Given the description of an element on the screen output the (x, y) to click on. 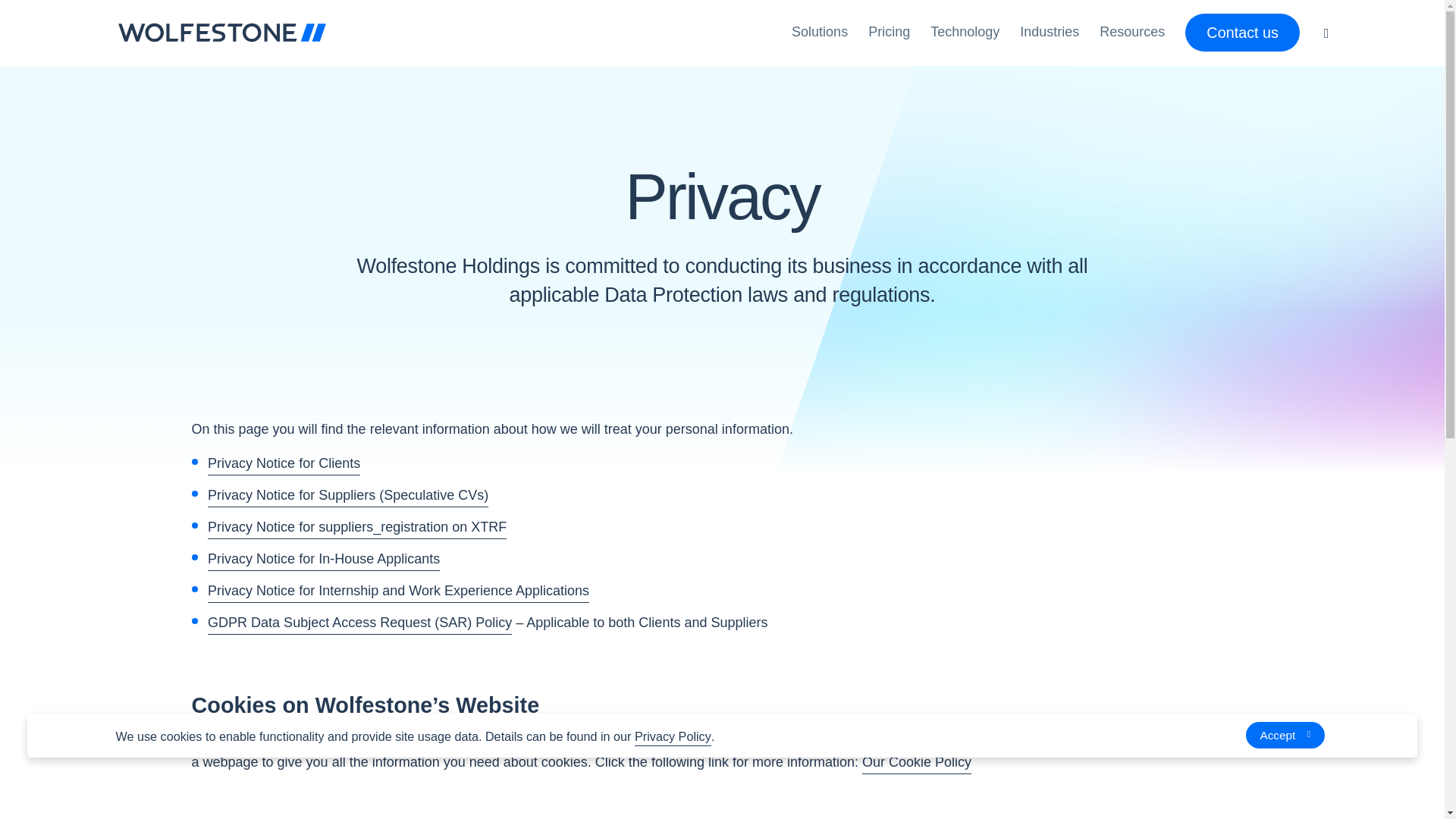
Clicking this will send you to the homepage of Wolfestone (221, 32)
Pricing (888, 32)
Contact us (1242, 32)
Solutions (819, 32)
